Given the description of an element on the screen output the (x, y) to click on. 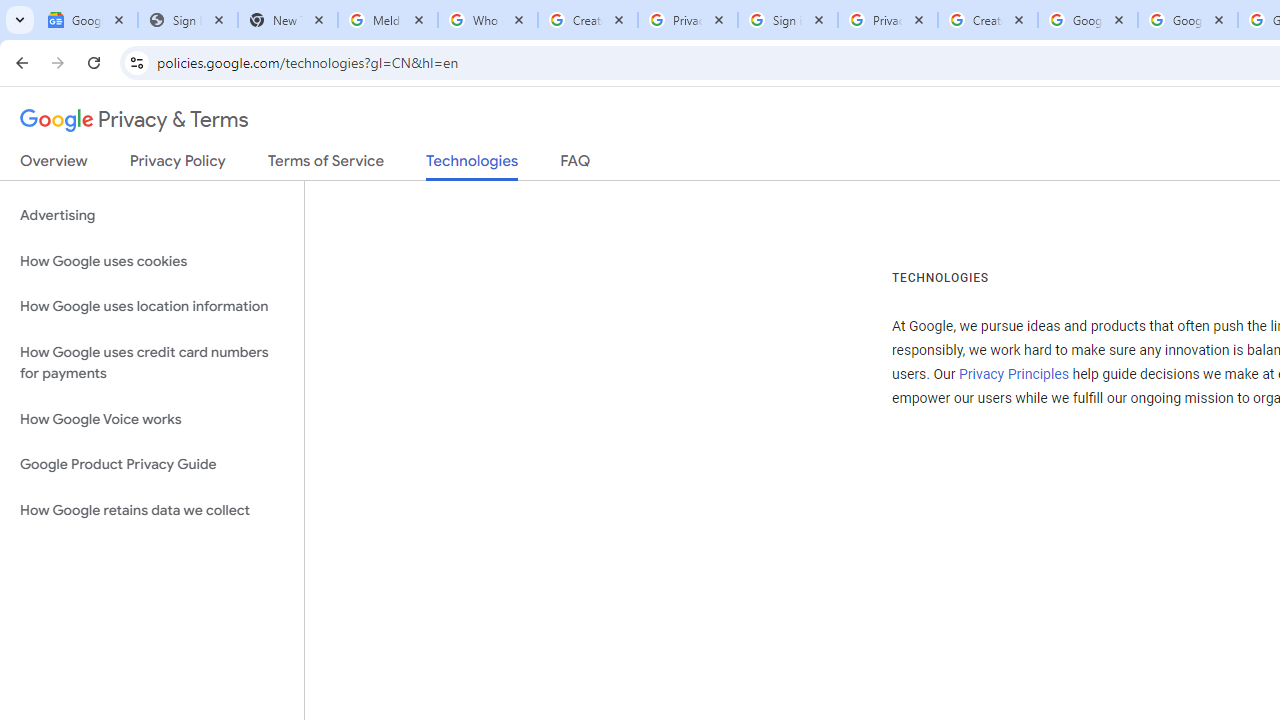
Create your Google Account (988, 20)
Privacy Principles (1013, 374)
How Google retains data we collect (152, 510)
How Google Voice works (152, 419)
Google News (87, 20)
Sign In - USA TODAY (188, 20)
